Given the description of an element on the screen output the (x, y) to click on. 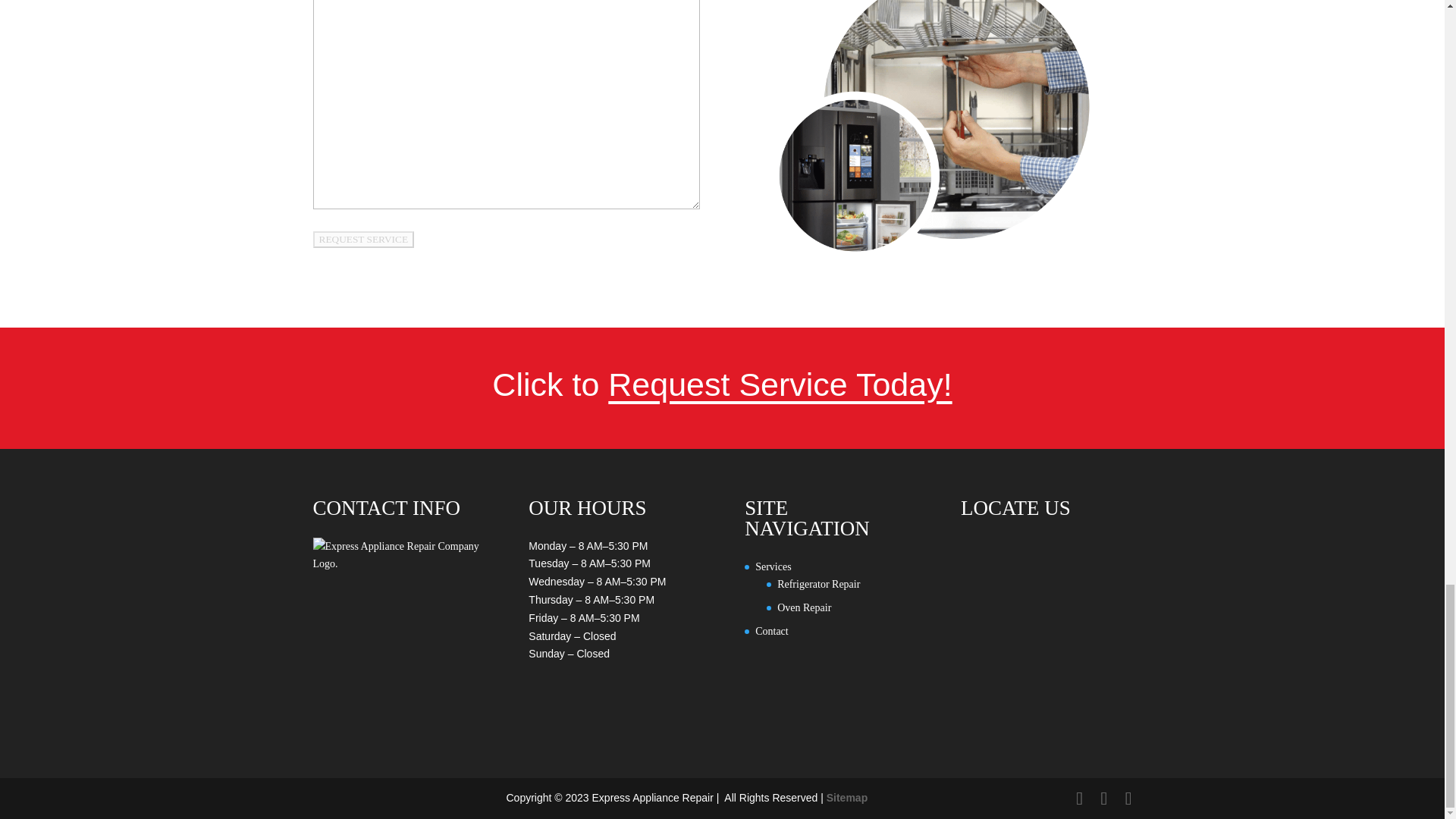
Oven Repair (804, 607)
Request Service Today! (780, 384)
Sitemap (847, 797)
Refrigerator Repair (818, 583)
quick-reliable-express-appliance-repair-ohio1 (937, 132)
Contact (772, 631)
REQUEST SERVICE (363, 239)
REQUEST SERVICE (363, 239)
Services (772, 566)
